Given the description of an element on the screen output the (x, y) to click on. 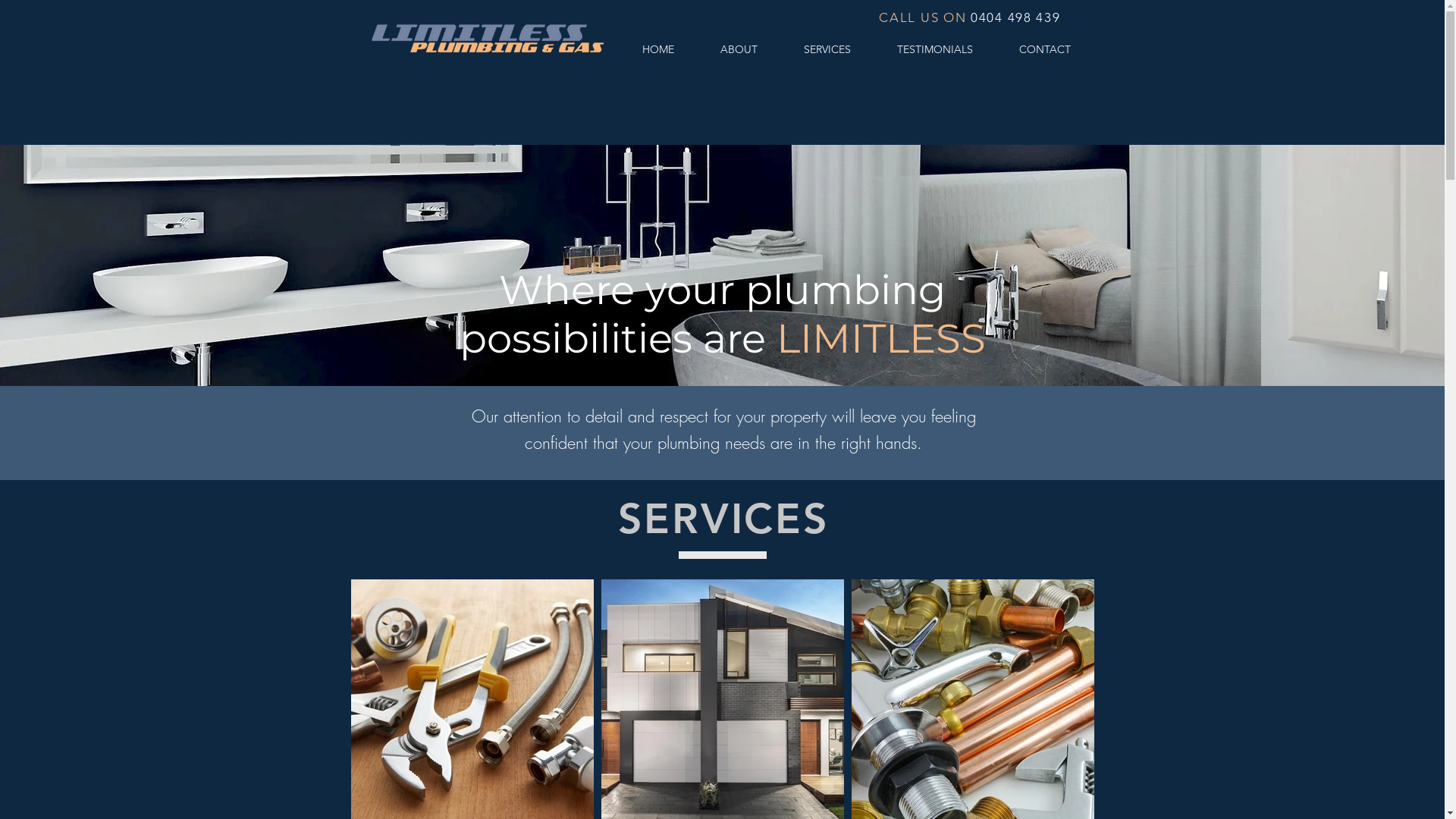
HOME Element type: text (657, 49)
SERVICES Element type: text (827, 49)
CALL US ON 0404 498 439 Element type: text (969, 17)
TESTIMONIALS Element type: text (934, 49)
ABOUT Element type: text (739, 49)
CONTACT Element type: text (1045, 49)
